Given the description of an element on the screen output the (x, y) to click on. 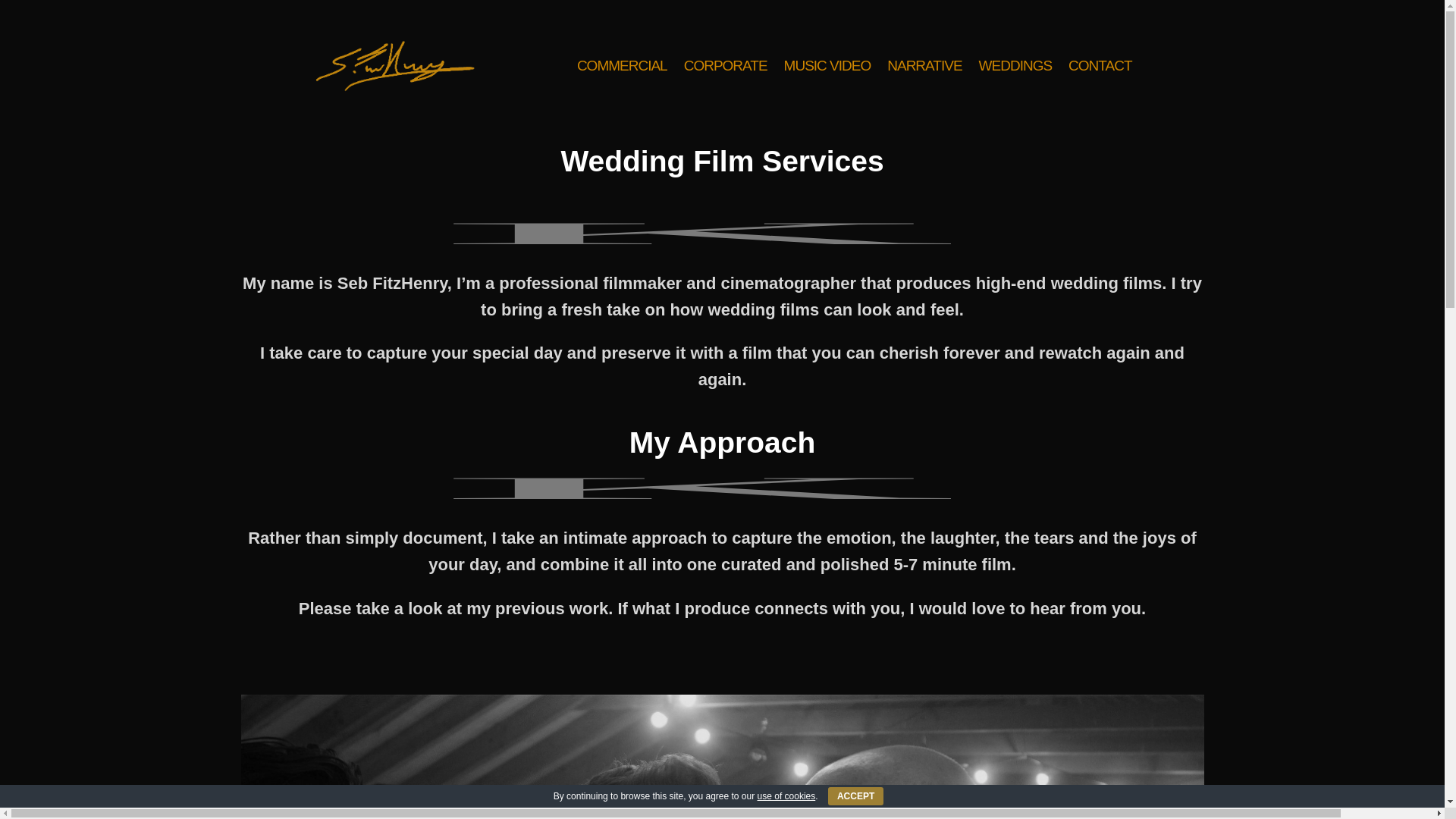
WEDDINGS (1015, 95)
CORPORATE (725, 95)
COMMERCIAL (621, 95)
ACCEPT (855, 796)
NARRATIVE (923, 95)
use of cookies (786, 796)
MUSIC VIDEO (827, 95)
